Given the description of an element on the screen output the (x, y) to click on. 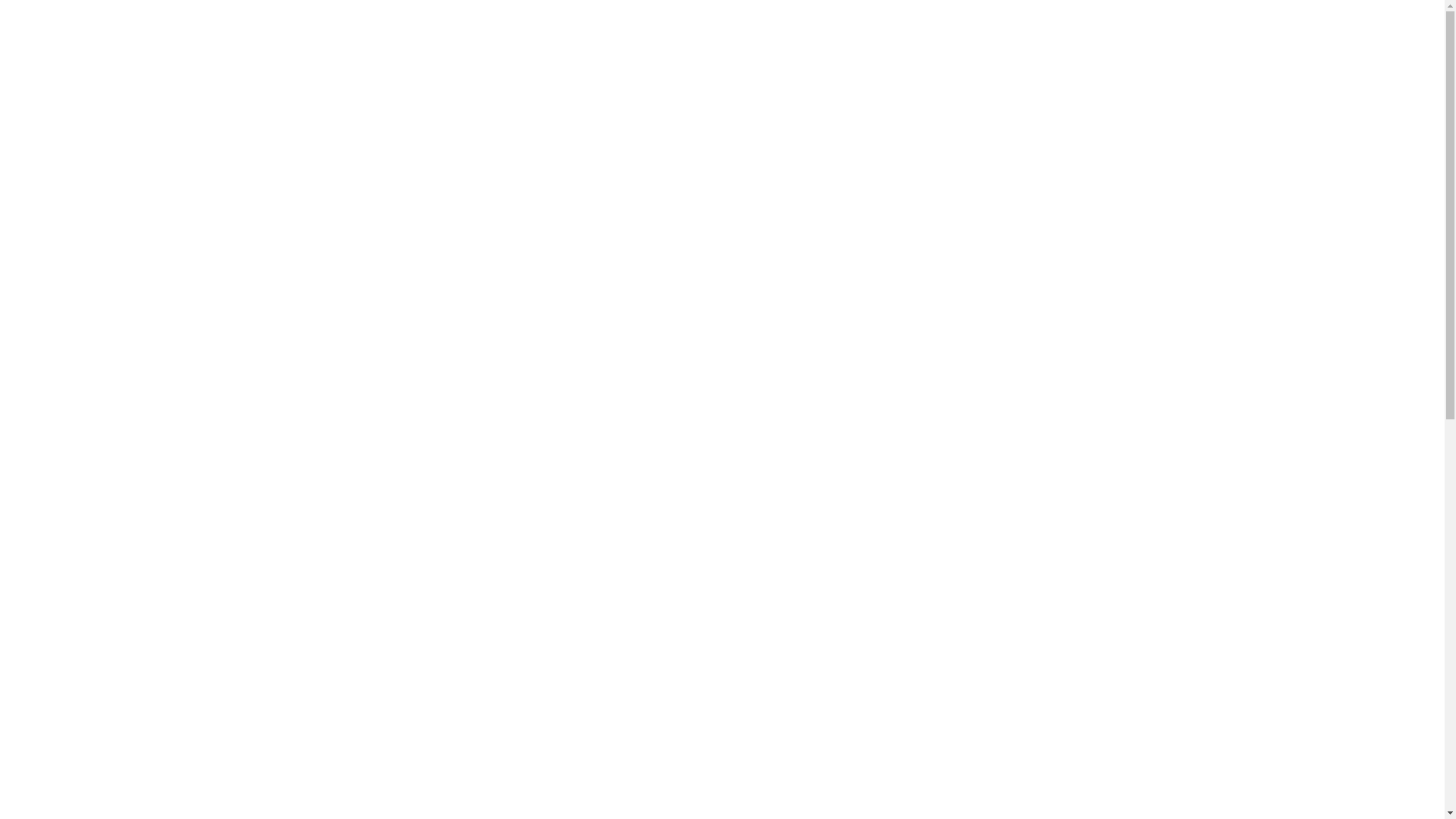
Tips & tricks Element type: text (1000, 429)
Nieuws Element type: text (986, 405)
Evenementen Element type: text (1003, 453)
